Given the description of an element on the screen output the (x, y) to click on. 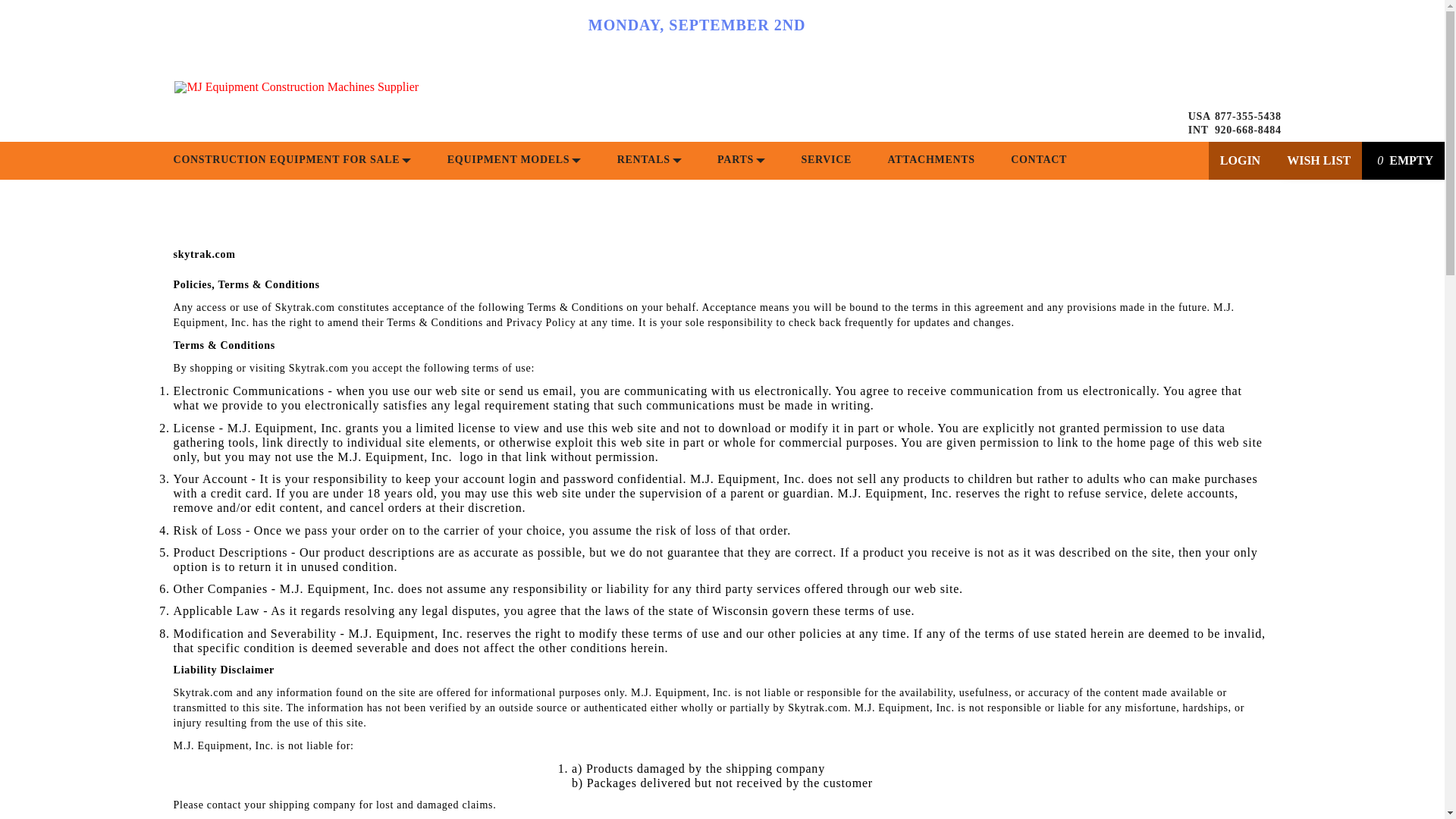
877-355-5438 (1247, 116)
SERVICE (825, 160)
EQUIPMENT MODELS (513, 160)
RENTALS (649, 160)
PARTS (741, 160)
920-668-8484 (1247, 130)
CONSTRUCTION EQUIPMENT FOR SALE (292, 160)
